Given the description of an element on the screen output the (x, y) to click on. 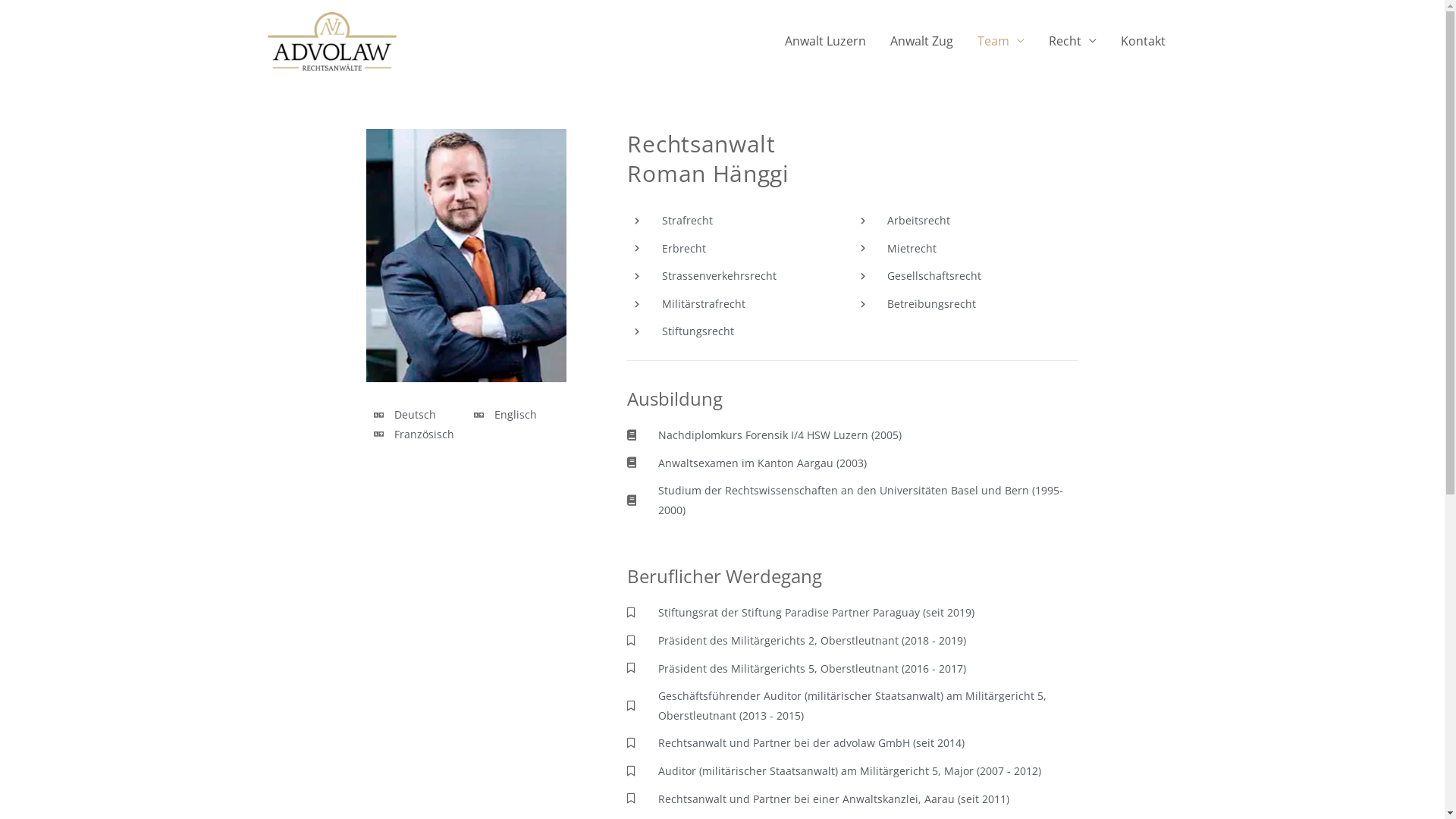
Team Element type: text (999, 40)
Anwalt Zug Element type: text (921, 40)
Kontakt Element type: text (1142, 40)
Recht Element type: text (1071, 40)
Anwalt Luzern Element type: text (824, 40)
